Given the description of an element on the screen output the (x, y) to click on. 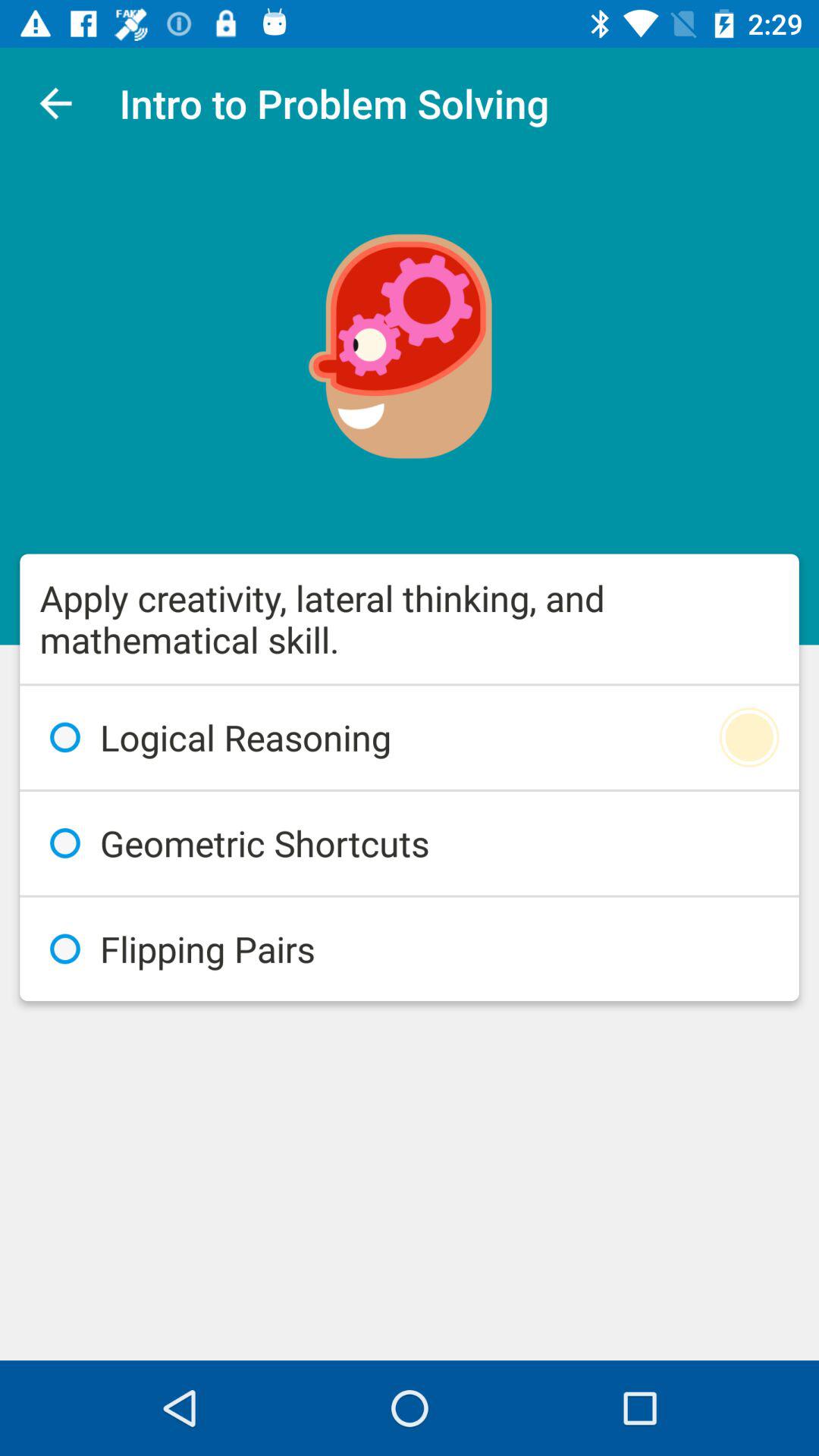
scroll until the flipping pairs (409, 949)
